Given the description of an element on the screen output the (x, y) to click on. 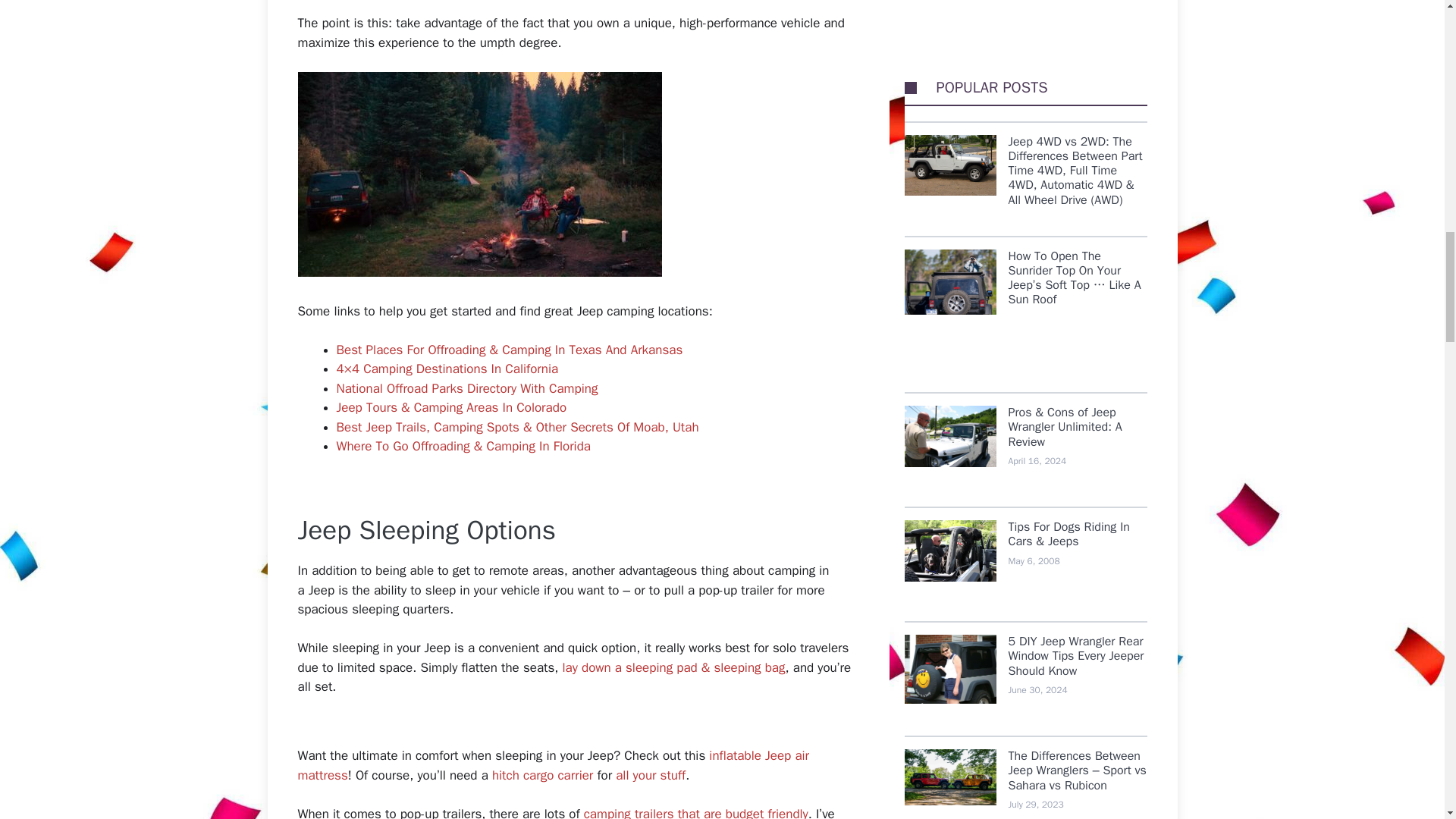
hitch cargo carrier (542, 774)
inflatable Jeep air mattress (553, 764)
all your stuff (650, 774)
National Offroad Parks Directory With Camping (467, 388)
camping trailers that are budget friendly (695, 812)
